Given the description of an element on the screen output the (x, y) to click on. 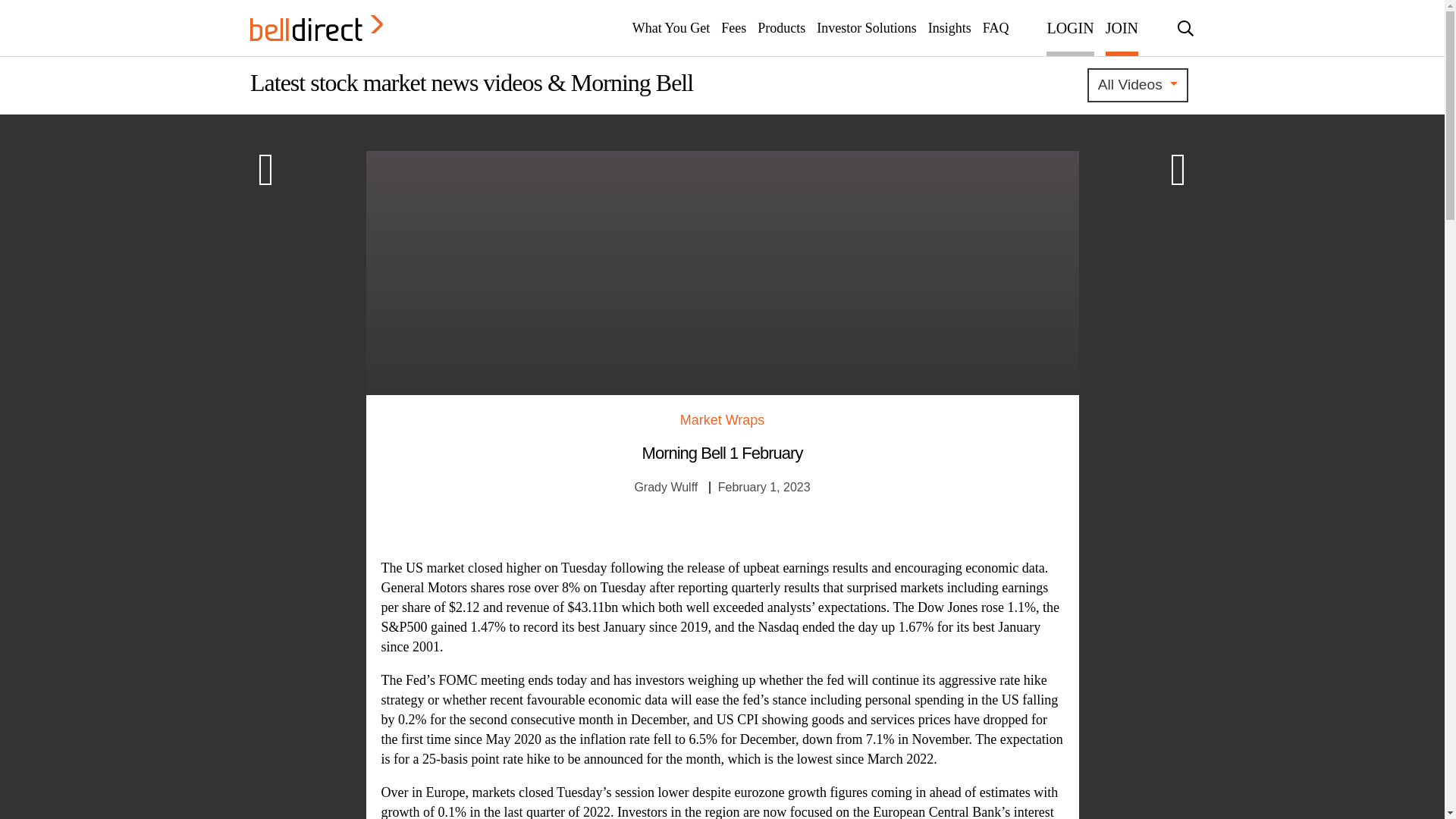
search (1184, 27)
JOIN (1121, 28)
Next Video (266, 171)
Fees (732, 28)
FAQ (995, 28)
Products (781, 28)
Investor Solutions (866, 28)
LOGIN (1069, 28)
YouTube video player (577, 269)
Insights (949, 28)
What You Get (670, 28)
Previous Video (1178, 171)
